Given the description of an element on the screen output the (x, y) to click on. 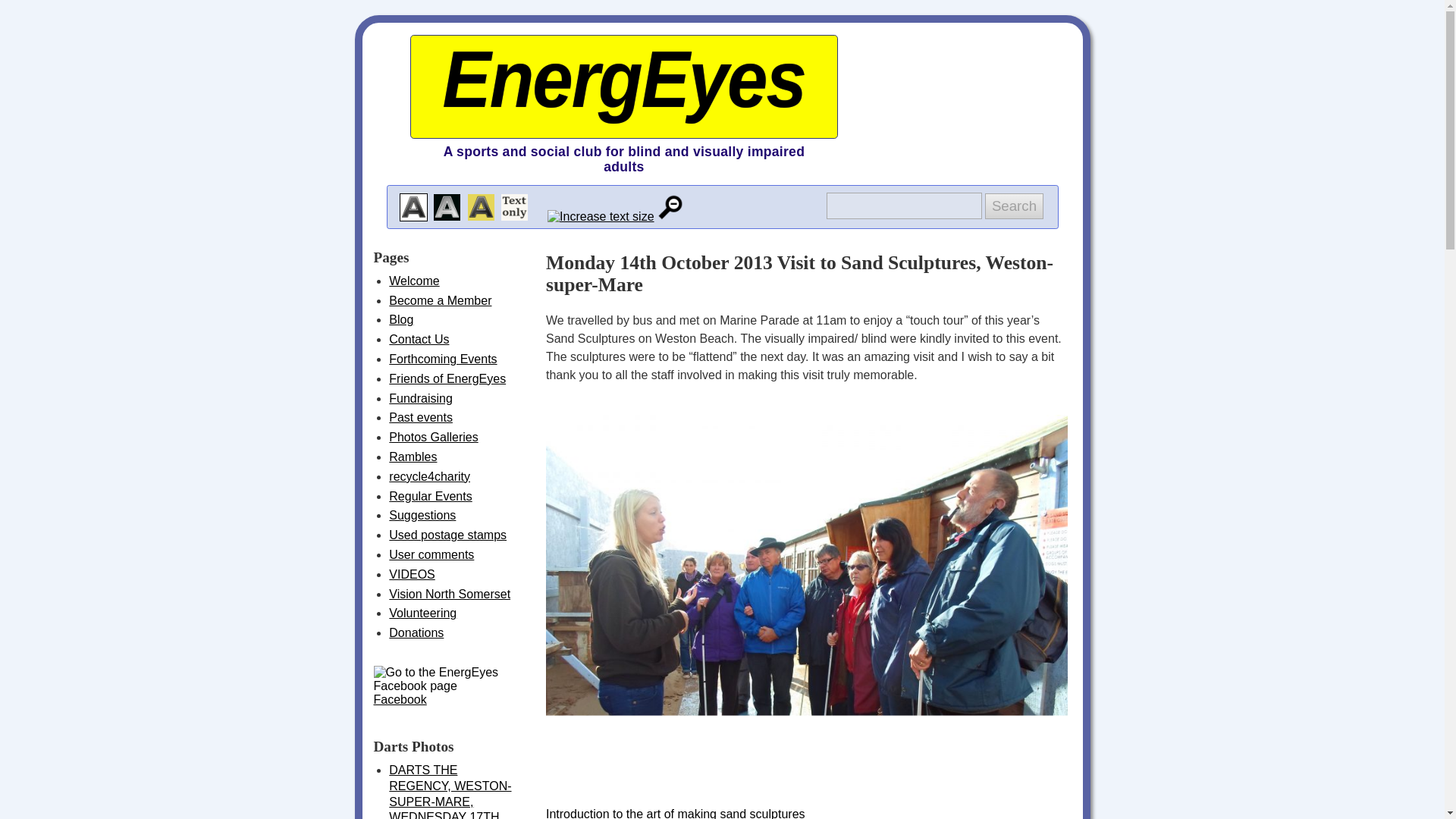
Photos Galleries (432, 436)
Welcome (413, 280)
recycle4charity (429, 476)
Switch to a yellow background with black text (481, 207)
Switch to a text only view (514, 207)
Increase text size (601, 216)
Past events (420, 417)
EnergEyes (622, 81)
Introduction to the art of making sand sculptures (806, 800)
Search (1013, 206)
Fundraising (420, 398)
Switch to a white background with black text (412, 207)
Search (1013, 206)
Blog (400, 318)
Switch to a black background with white text (446, 207)
